Given the description of an element on the screen output the (x, y) to click on. 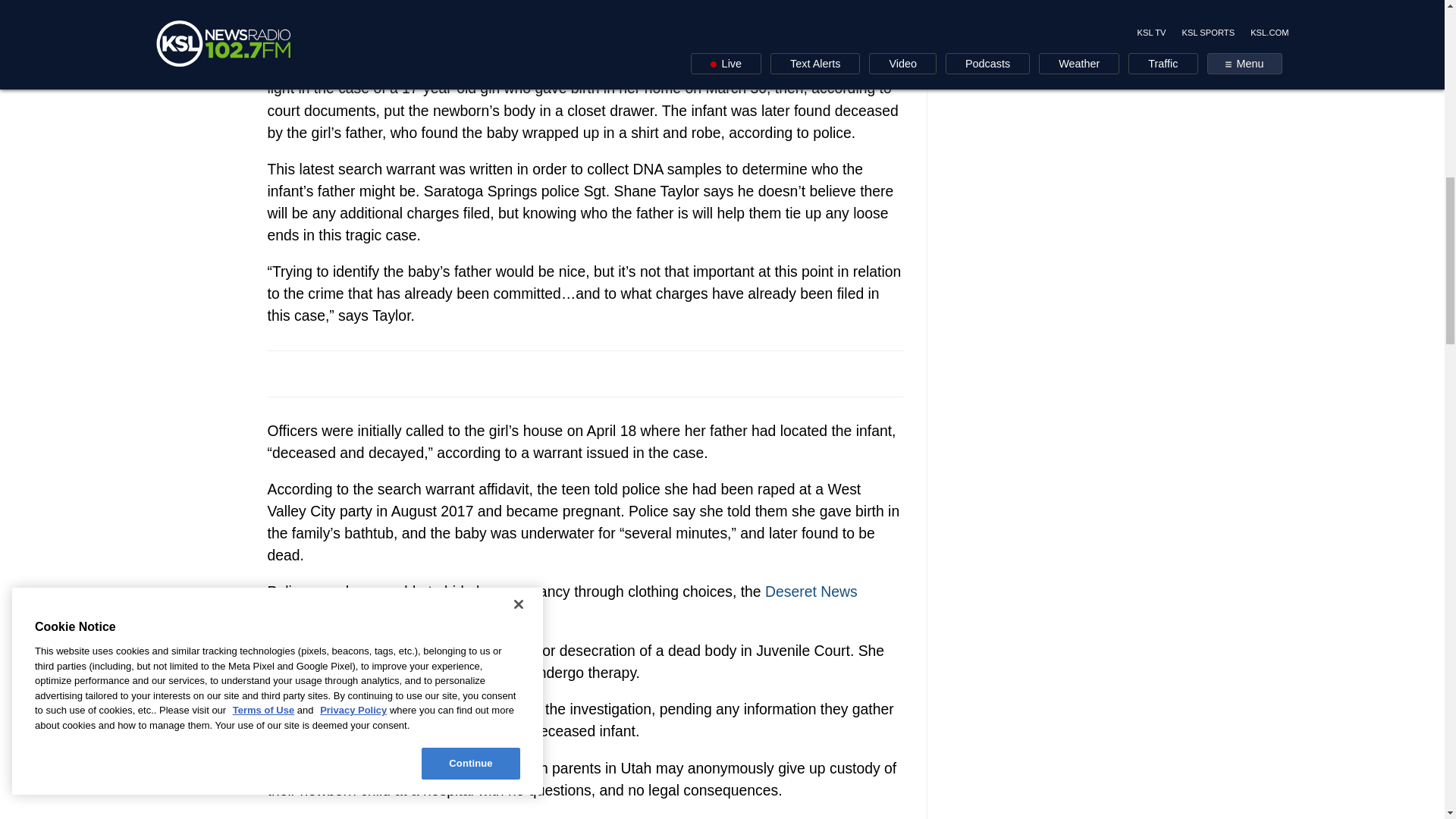
3rd party ad content (1062, 91)
